Given the description of an element on the screen output the (x, y) to click on. 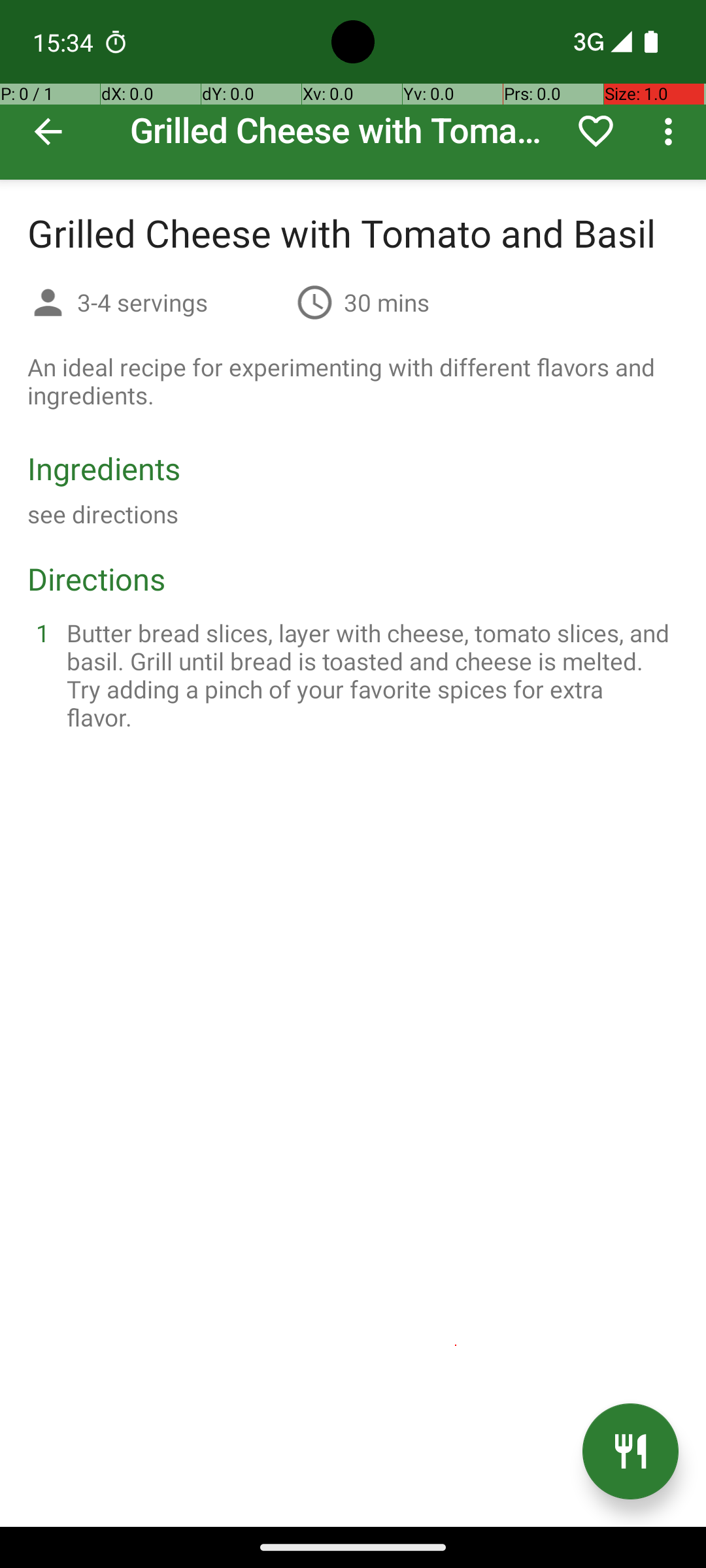
Butter bread slices, layer with cheese, tomato slices, and basil. Grill until bread is toasted and cheese is melted. Try adding a pinch of your favorite spices for extra flavor. Element type: android.widget.TextView (368, 674)
